Given the description of an element on the screen output the (x, y) to click on. 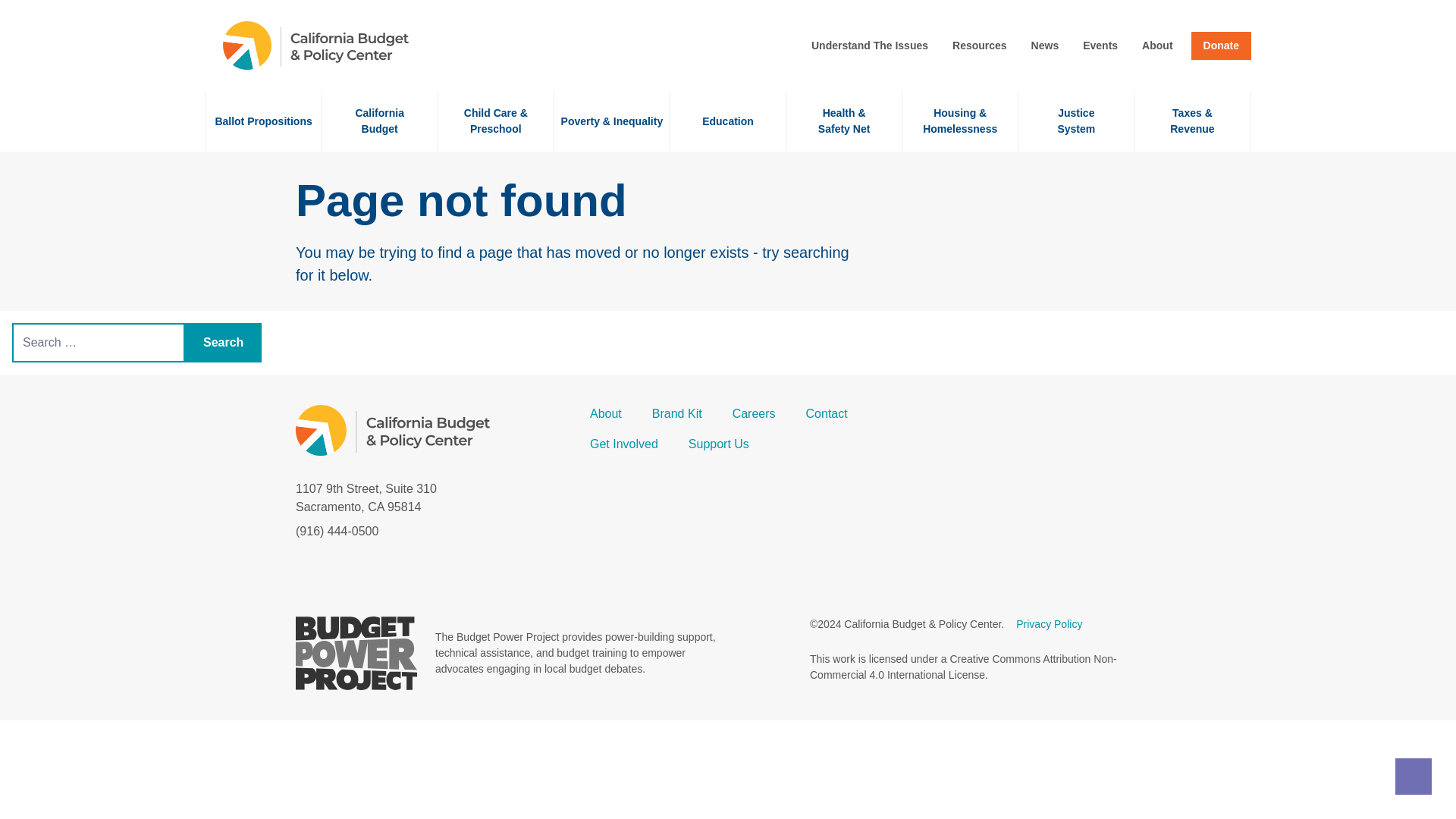
Resources (979, 45)
Donate (1220, 45)
Events (1100, 45)
News (1076, 120)
About (1045, 45)
Understand The Issues (1156, 45)
Search (869, 45)
Ballot Propositions (223, 342)
Education (263, 120)
